Given the description of an element on the screen output the (x, y) to click on. 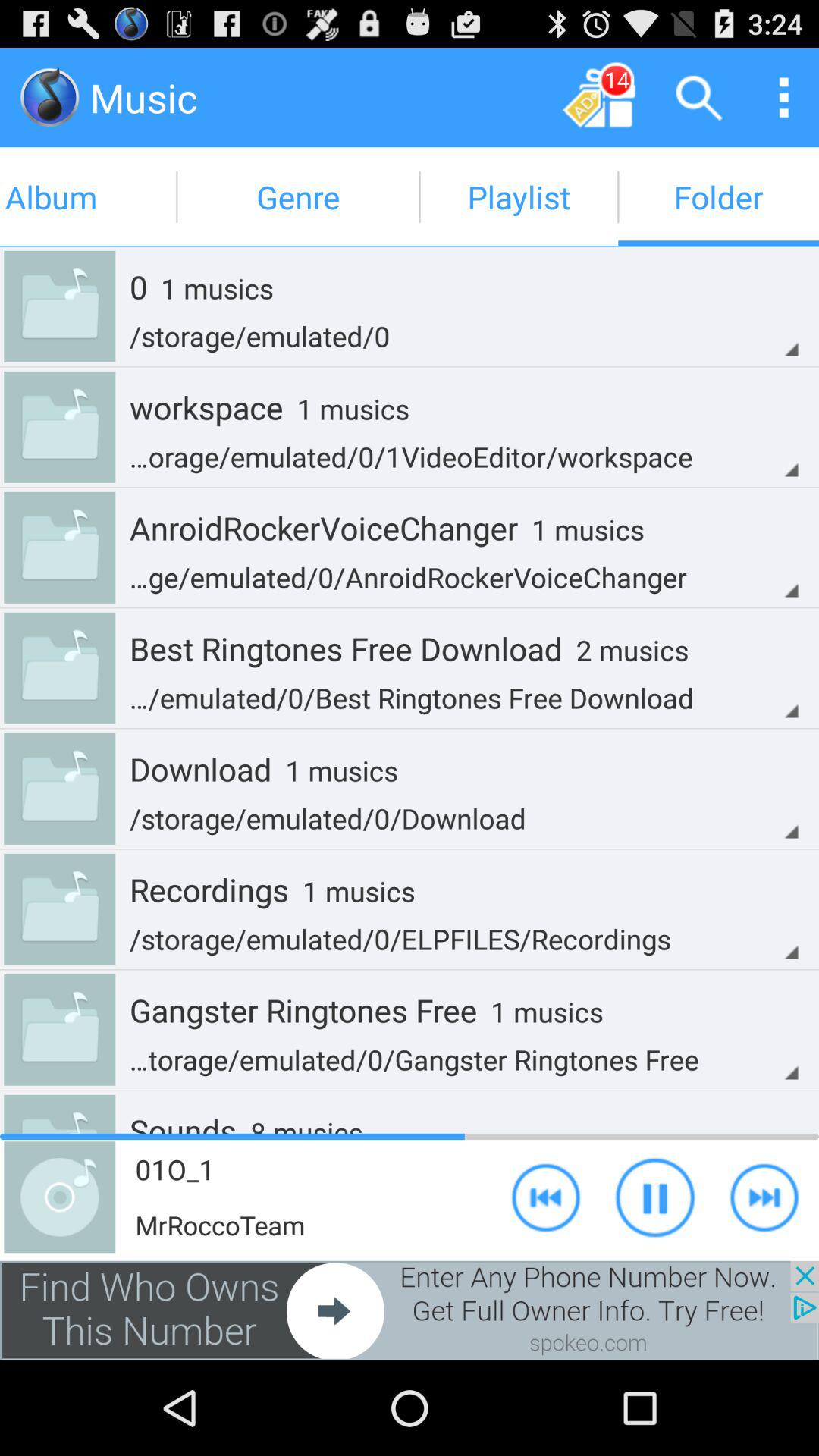
go back (545, 1196)
